Given the description of an element on the screen output the (x, y) to click on. 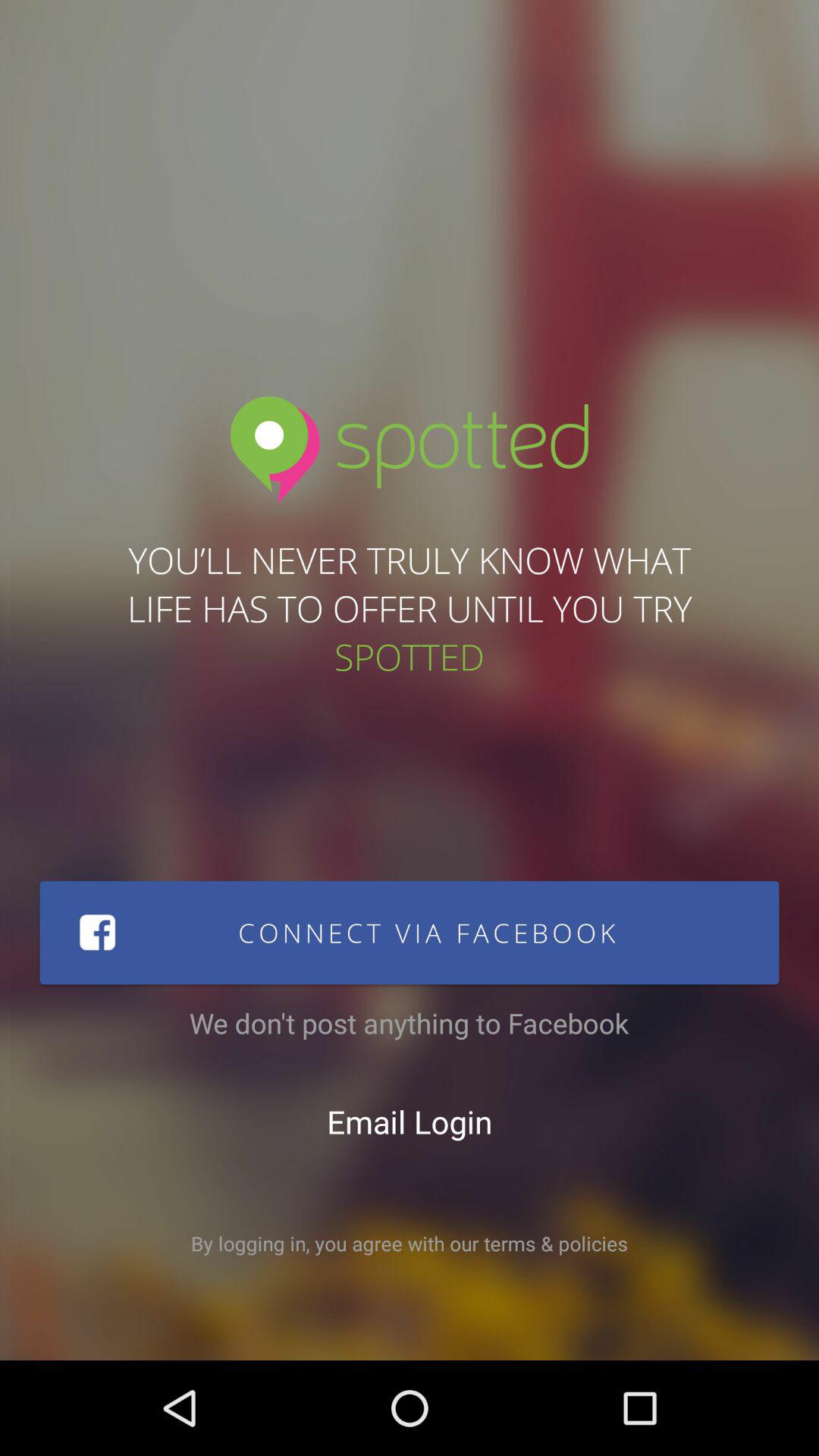
tap item below the email login item (409, 1243)
